Given the description of an element on the screen output the (x, y) to click on. 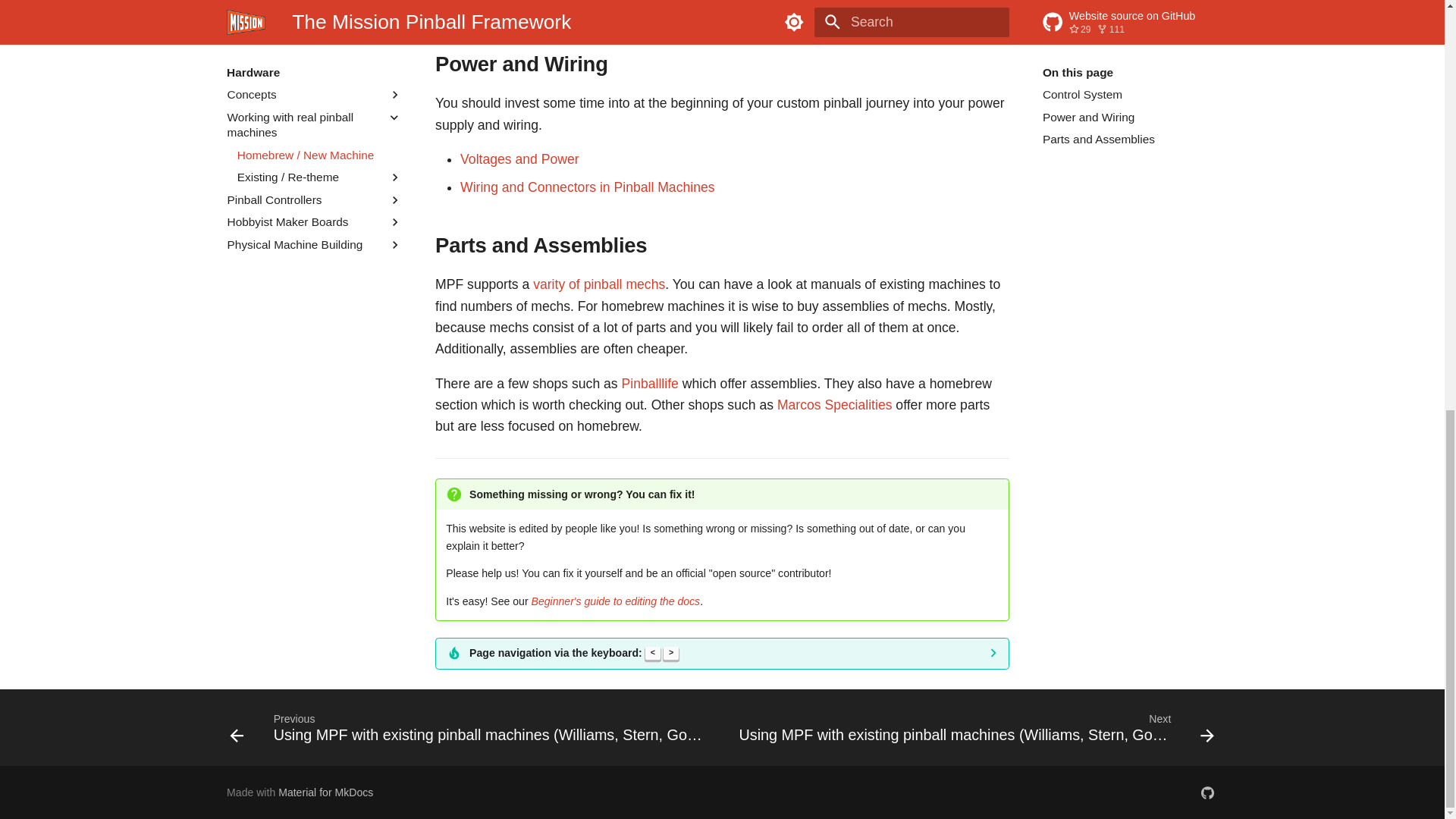
github.com (1207, 792)
